Given the description of an element on the screen output the (x, y) to click on. 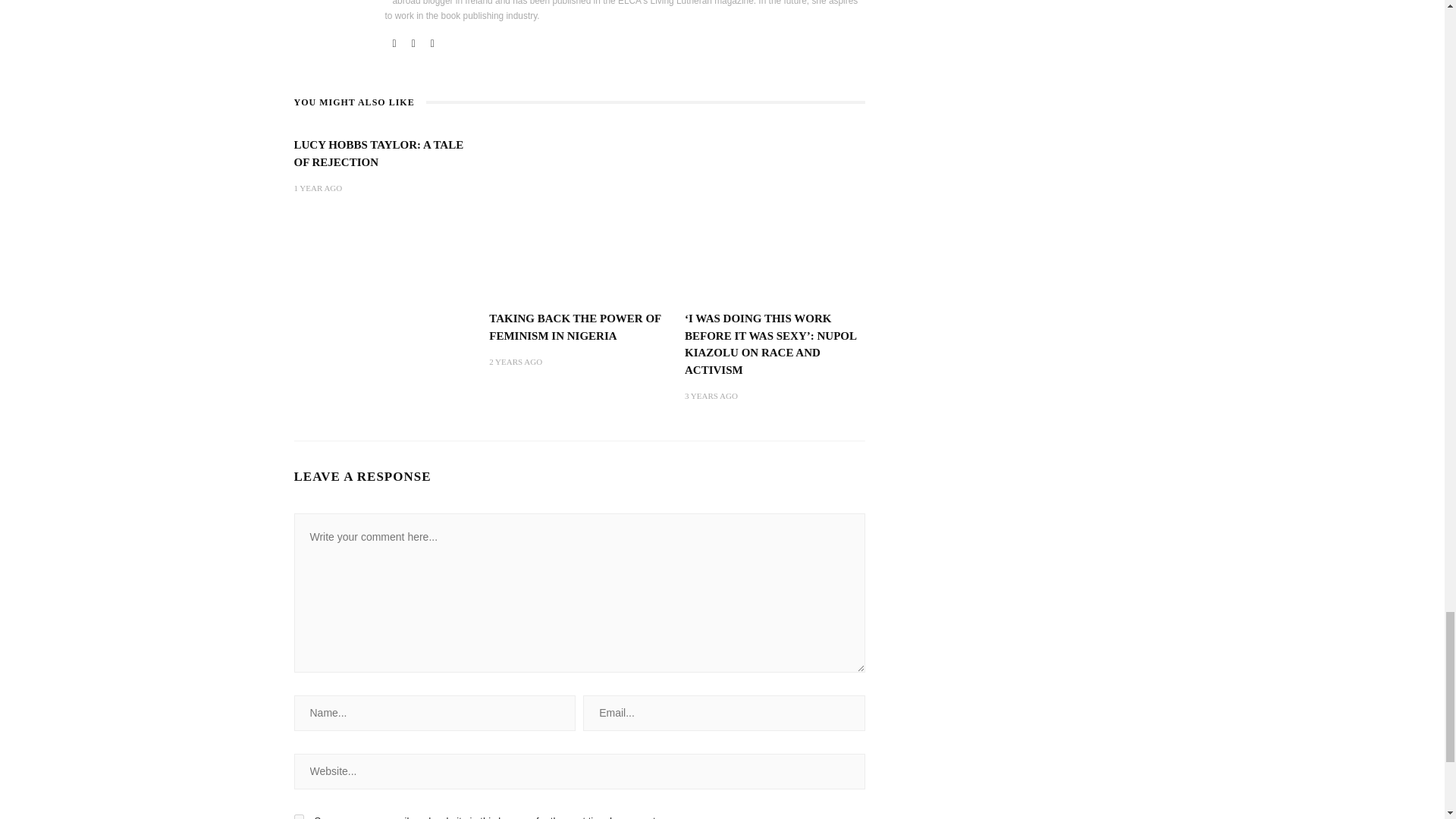
Lucy Hobbs Taylor: A Tale Of Rejection (379, 153)
Taking Back The Power Of Feminism In Nigeria (579, 216)
yes (299, 816)
Taking Back The Power Of Feminism In Nigeria (575, 327)
